Given the description of an element on the screen output the (x, y) to click on. 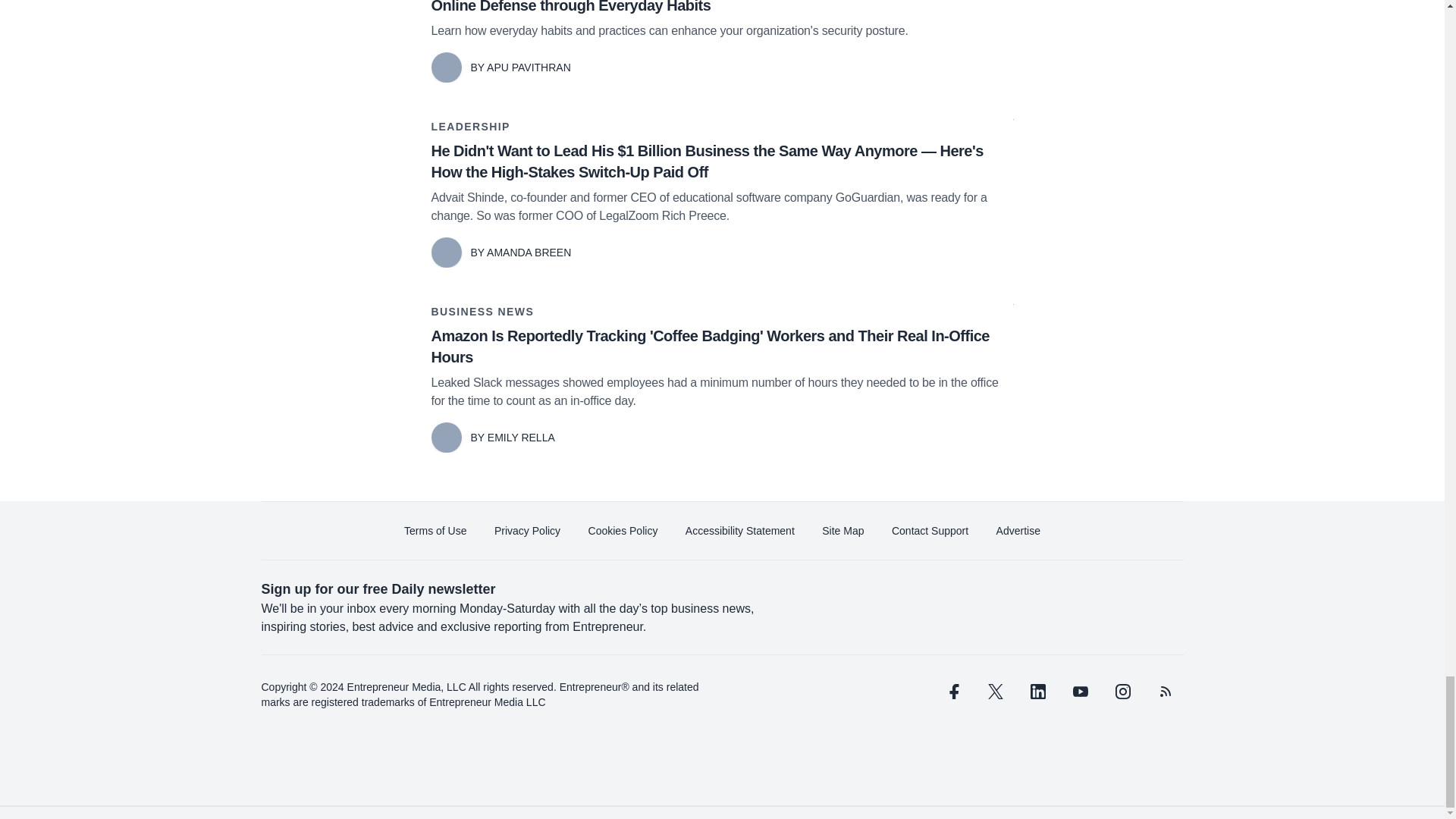
instagram (1121, 691)
rss (1164, 691)
facebook (952, 691)
linkedin (1037, 691)
youtube (1079, 691)
twitter (994, 691)
